Given the description of an element on the screen output the (x, y) to click on. 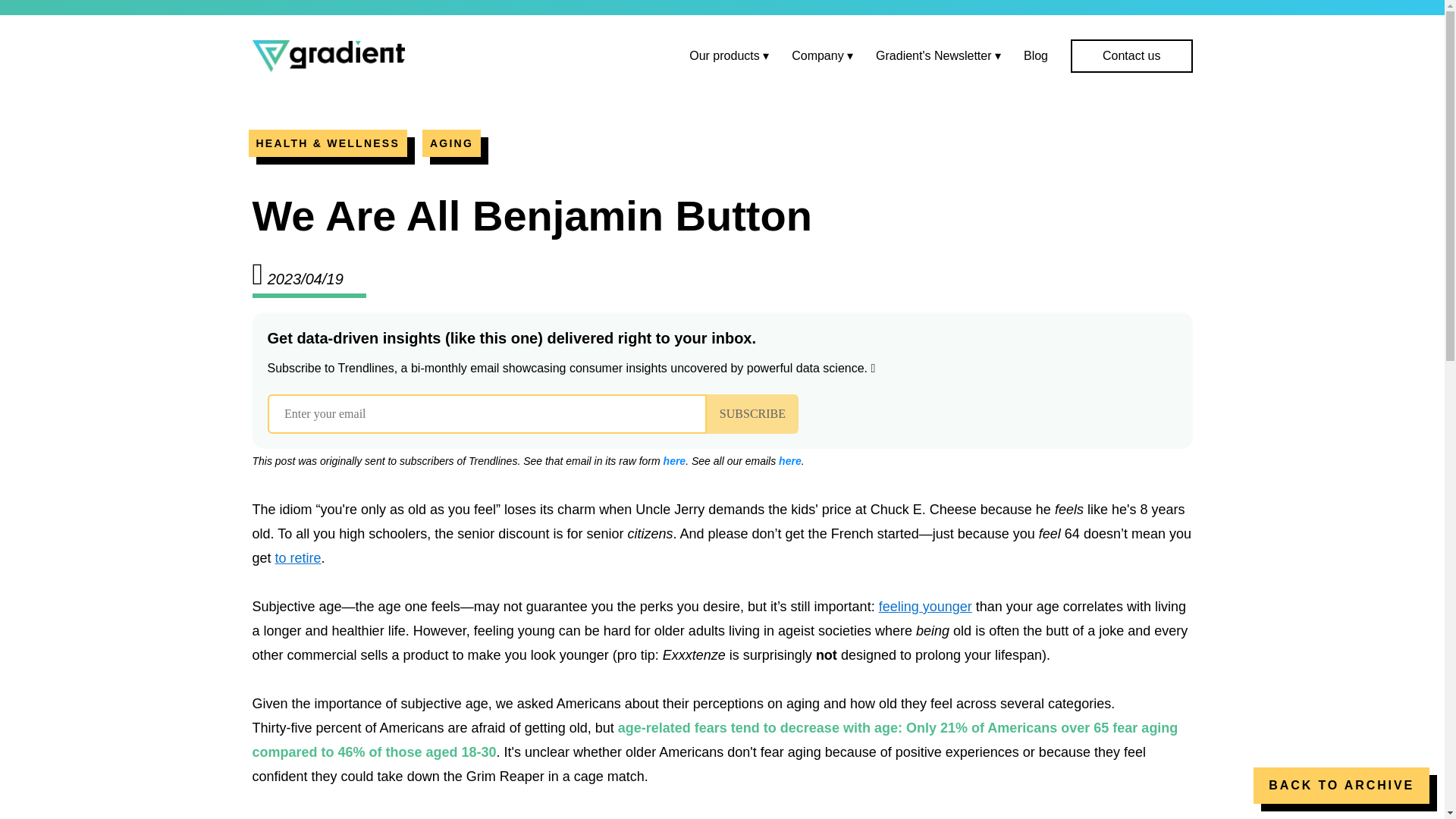
AGING (451, 143)
Blog (1035, 55)
BACK TO ARCHIVE (1341, 785)
Contact us (1131, 56)
